Given the description of an element on the screen output the (x, y) to click on. 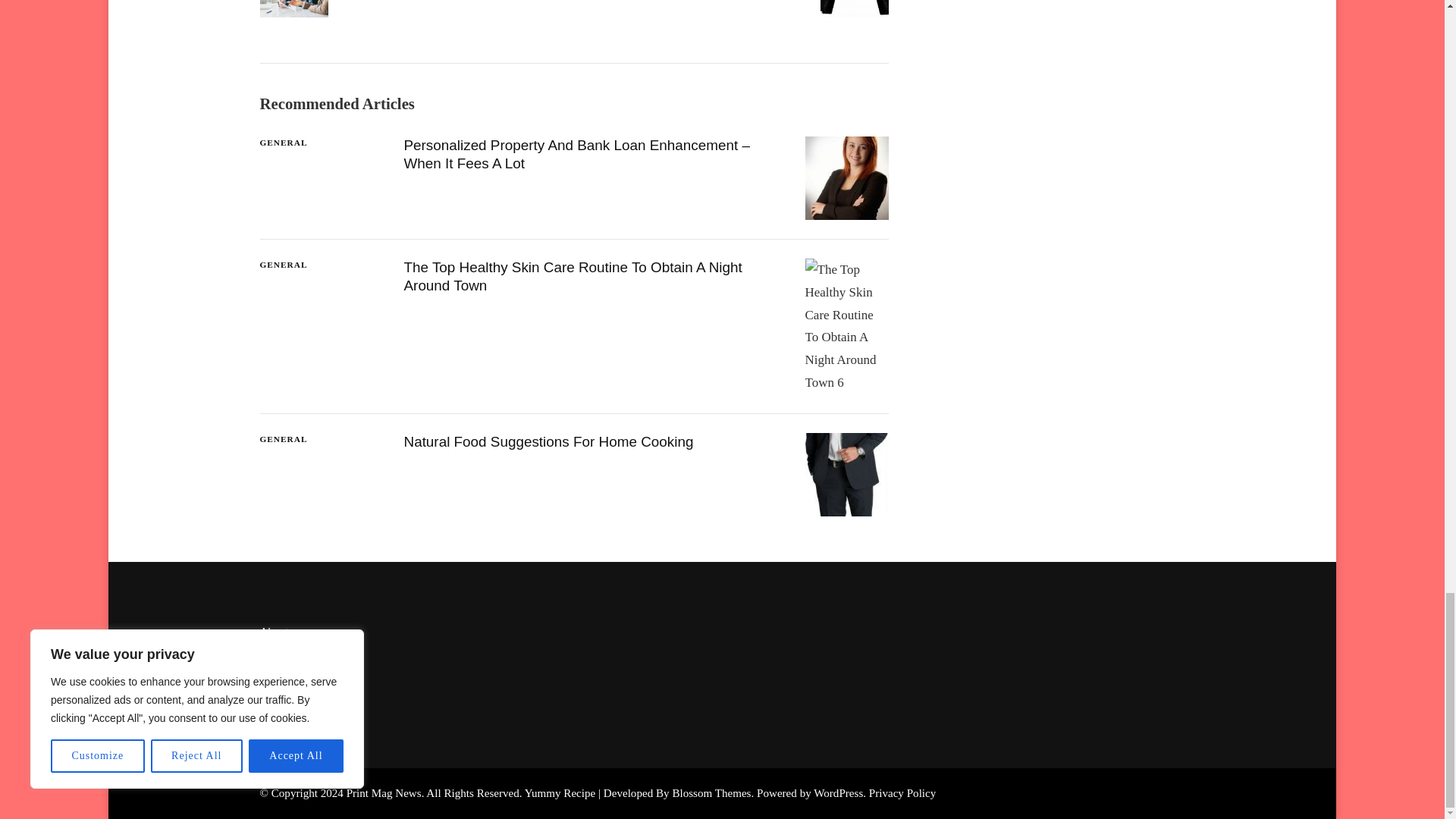
GENERAL (283, 142)
